Given the description of an element on the screen output the (x, y) to click on. 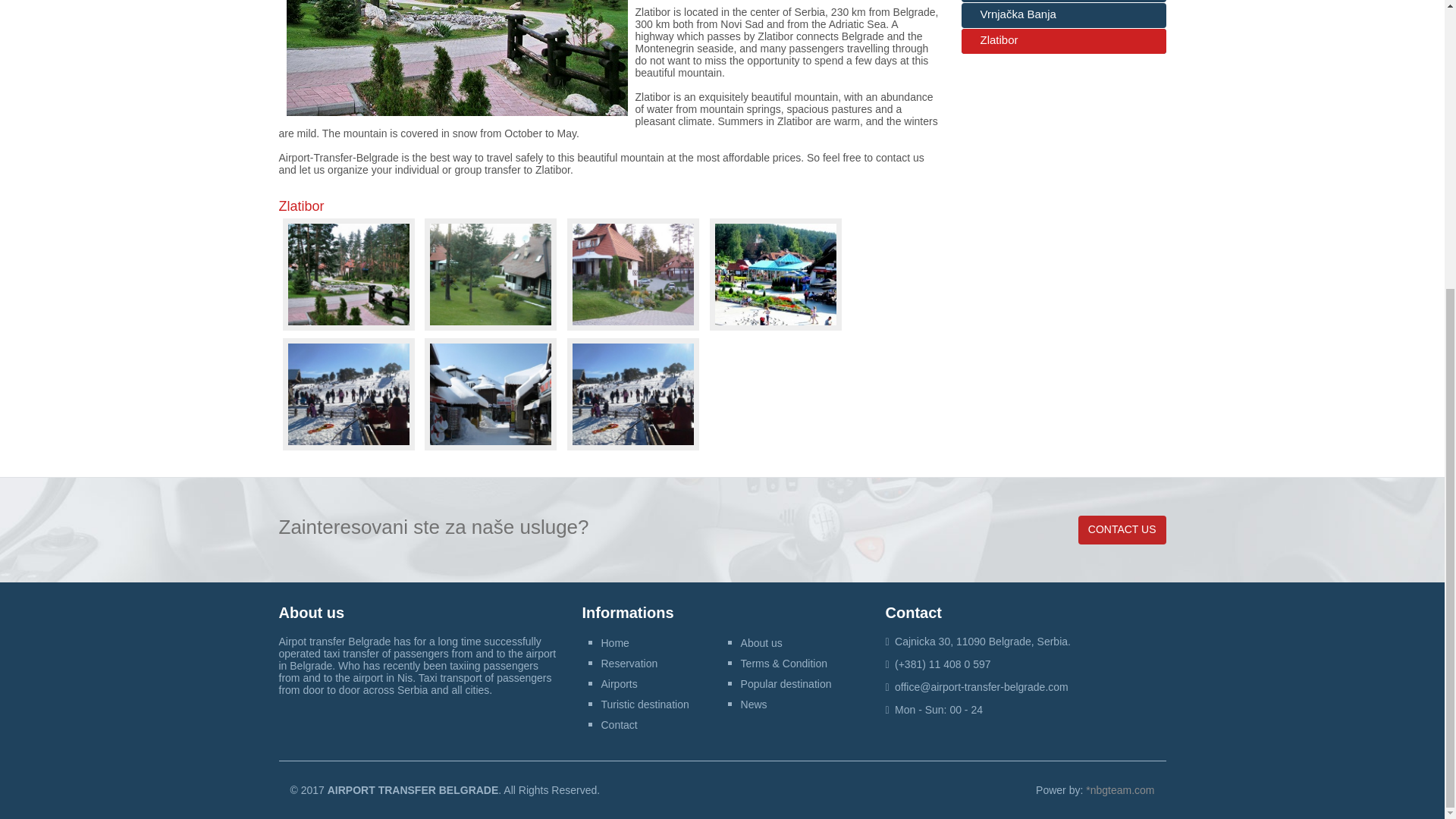
Internet Marketing i seo optimizacija (1120, 789)
Zlatibor (456, 58)
